Given the description of an element on the screen output the (x, y) to click on. 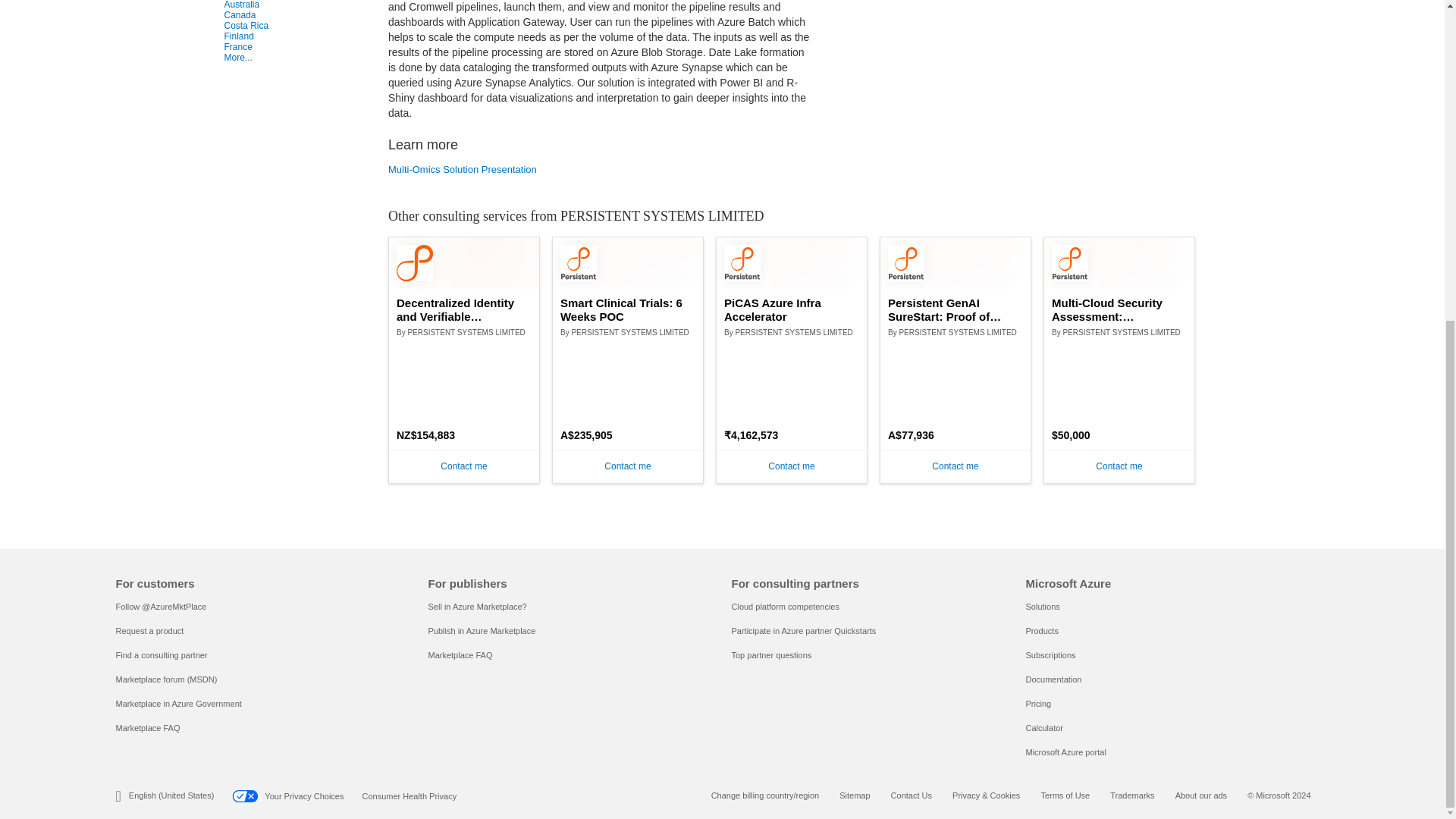
PiCAS Azure Infra Accelerator (791, 309)
Persistent GenAI SureStart: Proof of Concept (955, 309)
Smart Clinical Trials: 6 Weeks POC (627, 309)
